Given the description of an element on the screen output the (x, y) to click on. 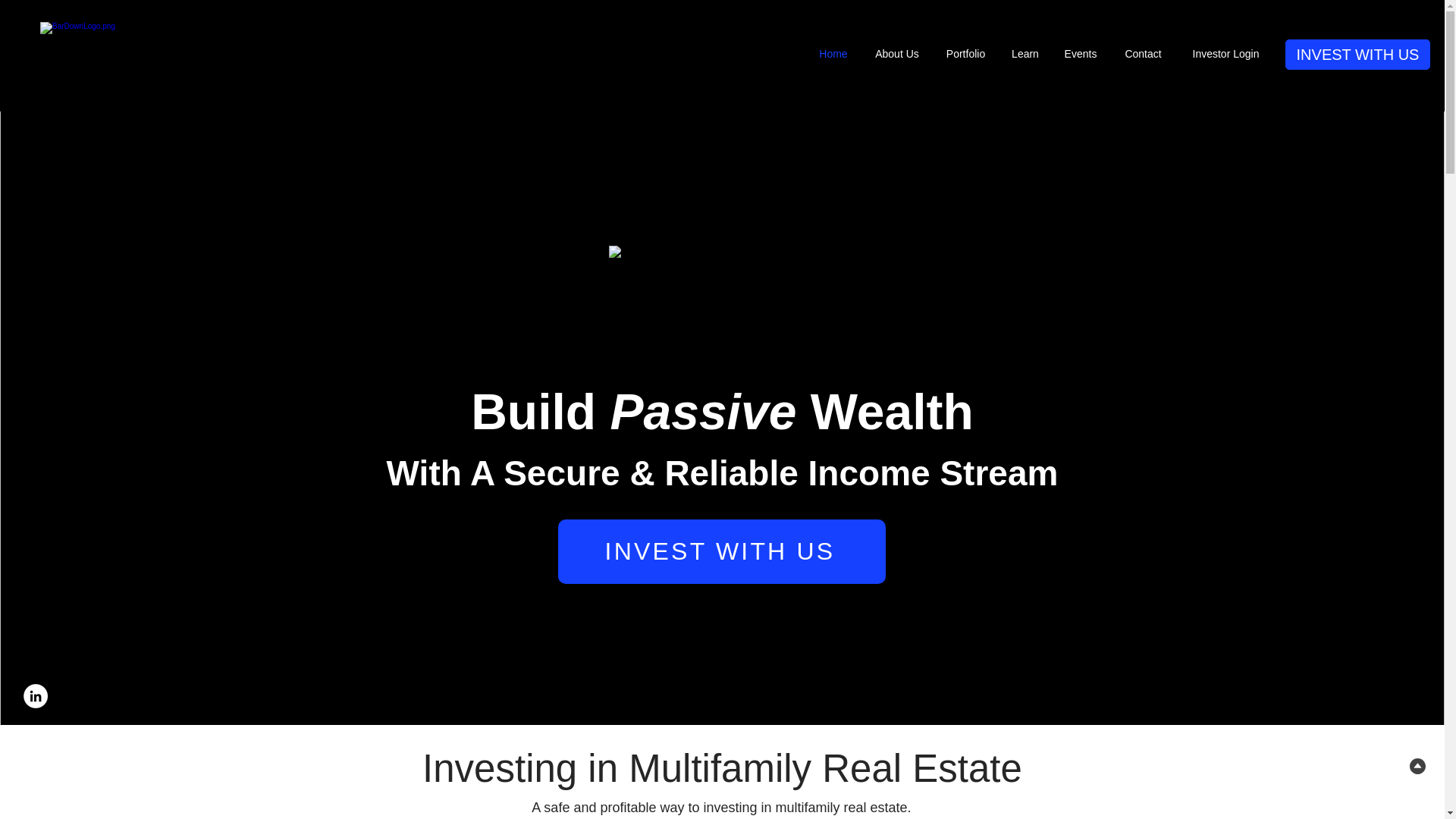
Home (833, 53)
Investor Login (1225, 53)
Learn (1024, 53)
Portfolio (965, 53)
INVEST WITH US (721, 551)
Events (1080, 53)
Contact (1142, 53)
About Us (897, 53)
INVEST WITH US (1357, 54)
